Given the description of an element on the screen output the (x, y) to click on. 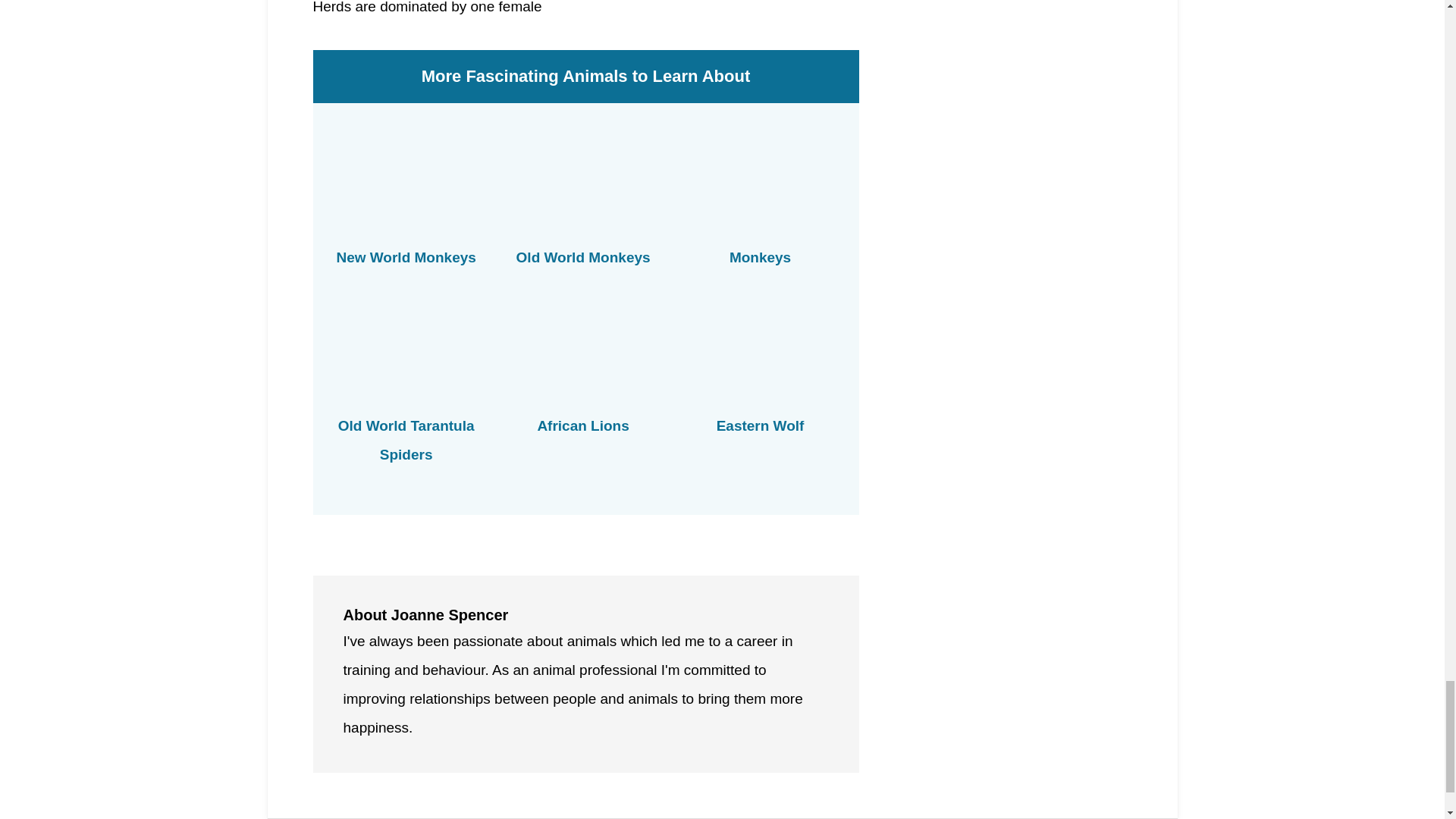
New World Monkeys (406, 257)
Monkeys (759, 257)
Old World Monkeys (583, 257)
